Given the description of an element on the screen output the (x, y) to click on. 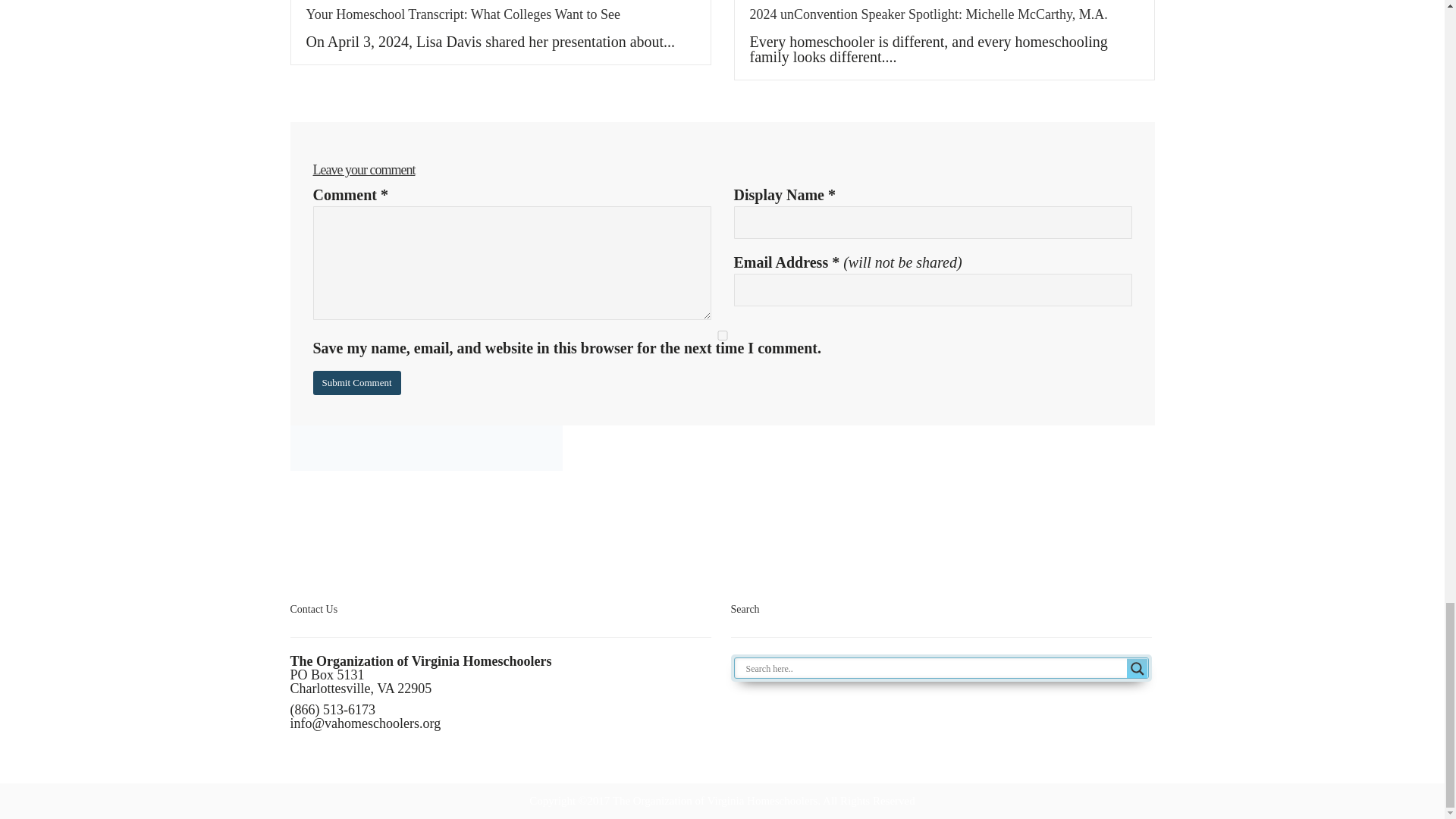
Submit Comment (356, 382)
yes (722, 335)
